Given the description of an element on the screen output the (x, y) to click on. 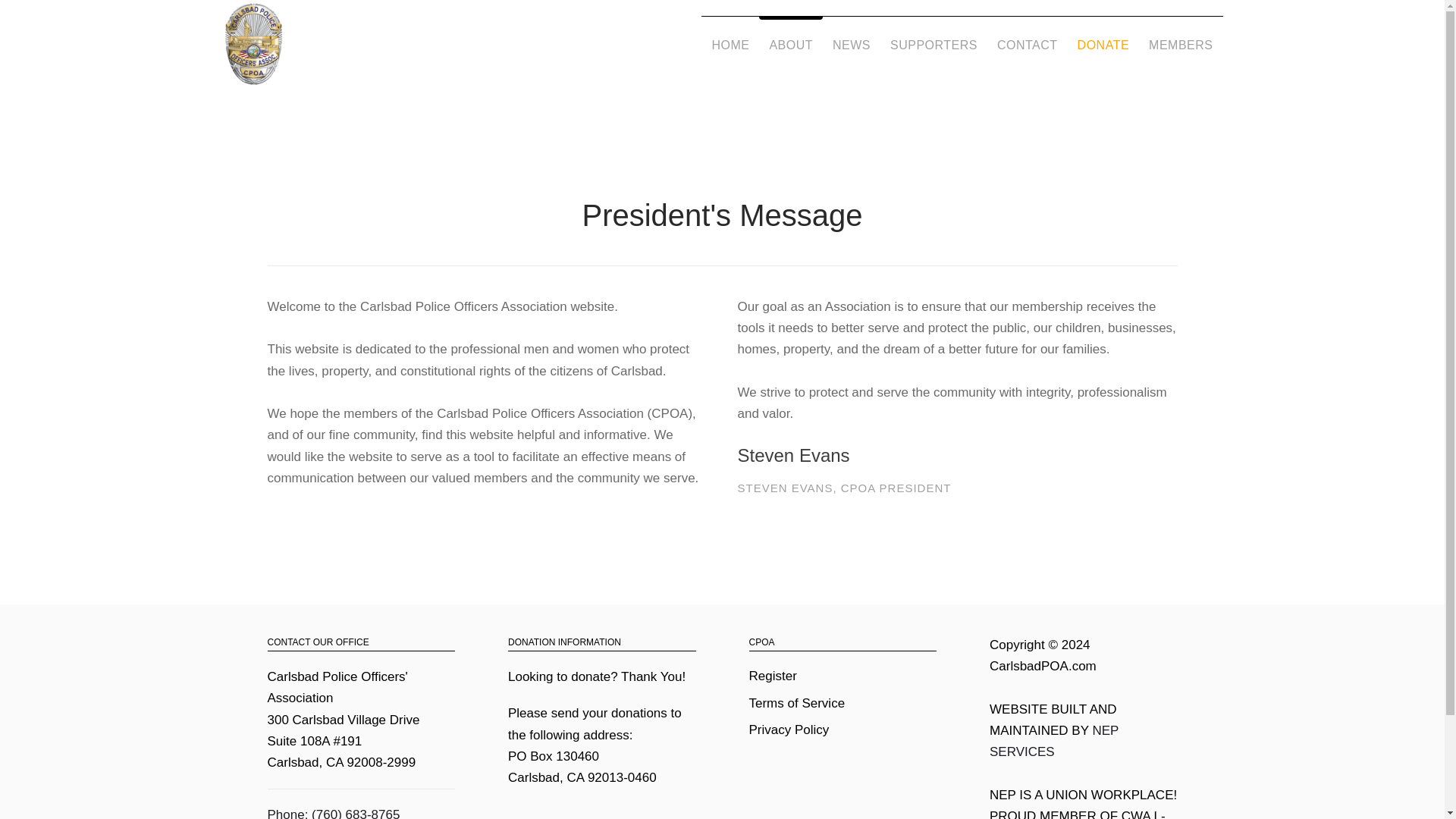
Terms of Service (797, 703)
Register (772, 676)
NEWS (851, 44)
Privacy Policy (789, 729)
NEP SERVICES (1054, 741)
CONTACT (1027, 44)
DONATE (1102, 44)
HOME (729, 44)
